Given the description of an element on the screen output the (x, y) to click on. 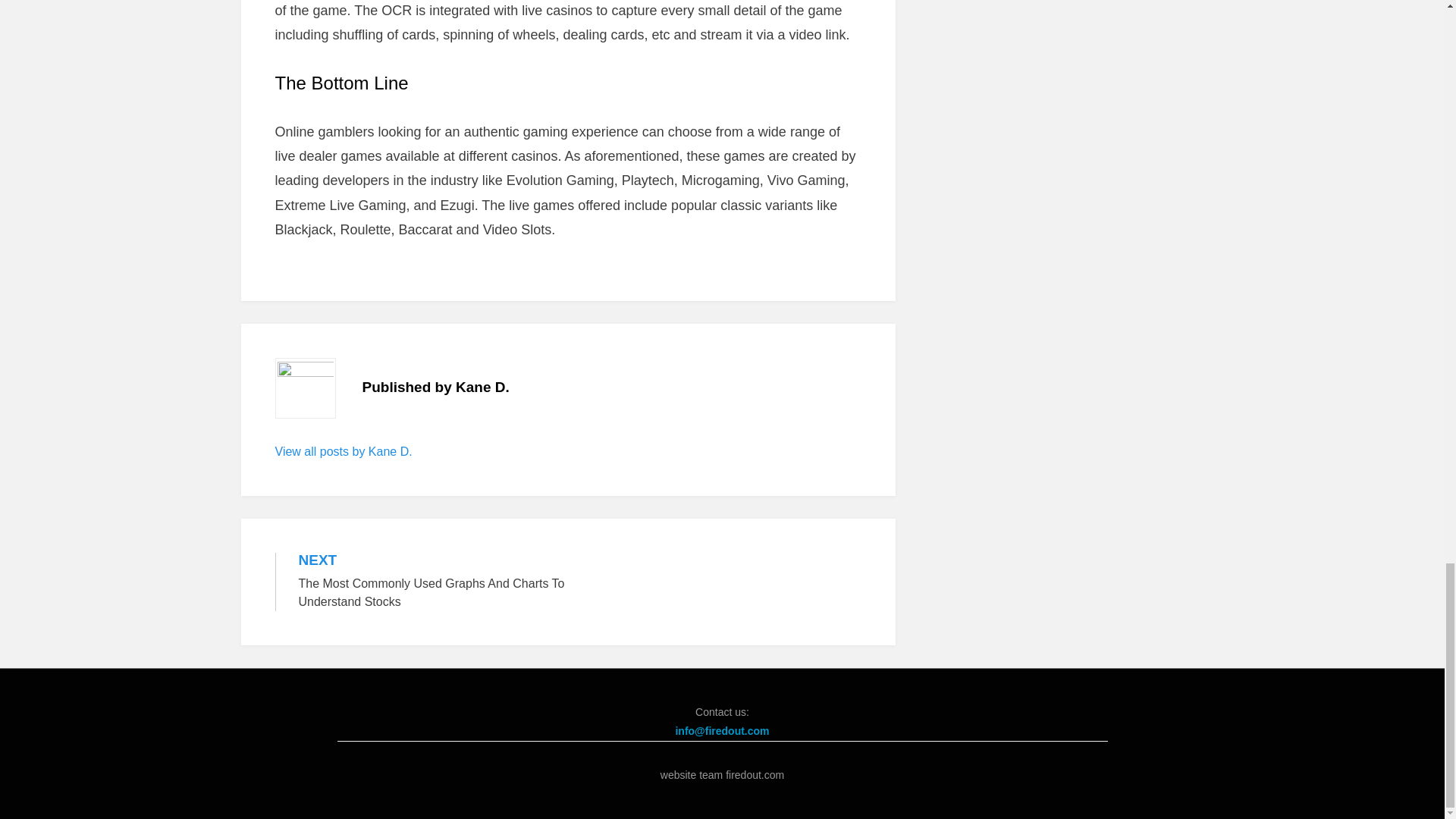
View all posts by Kane D. (343, 451)
WordPress (481, 796)
TemplatePocket (365, 796)
